Given the description of an element on the screen output the (x, y) to click on. 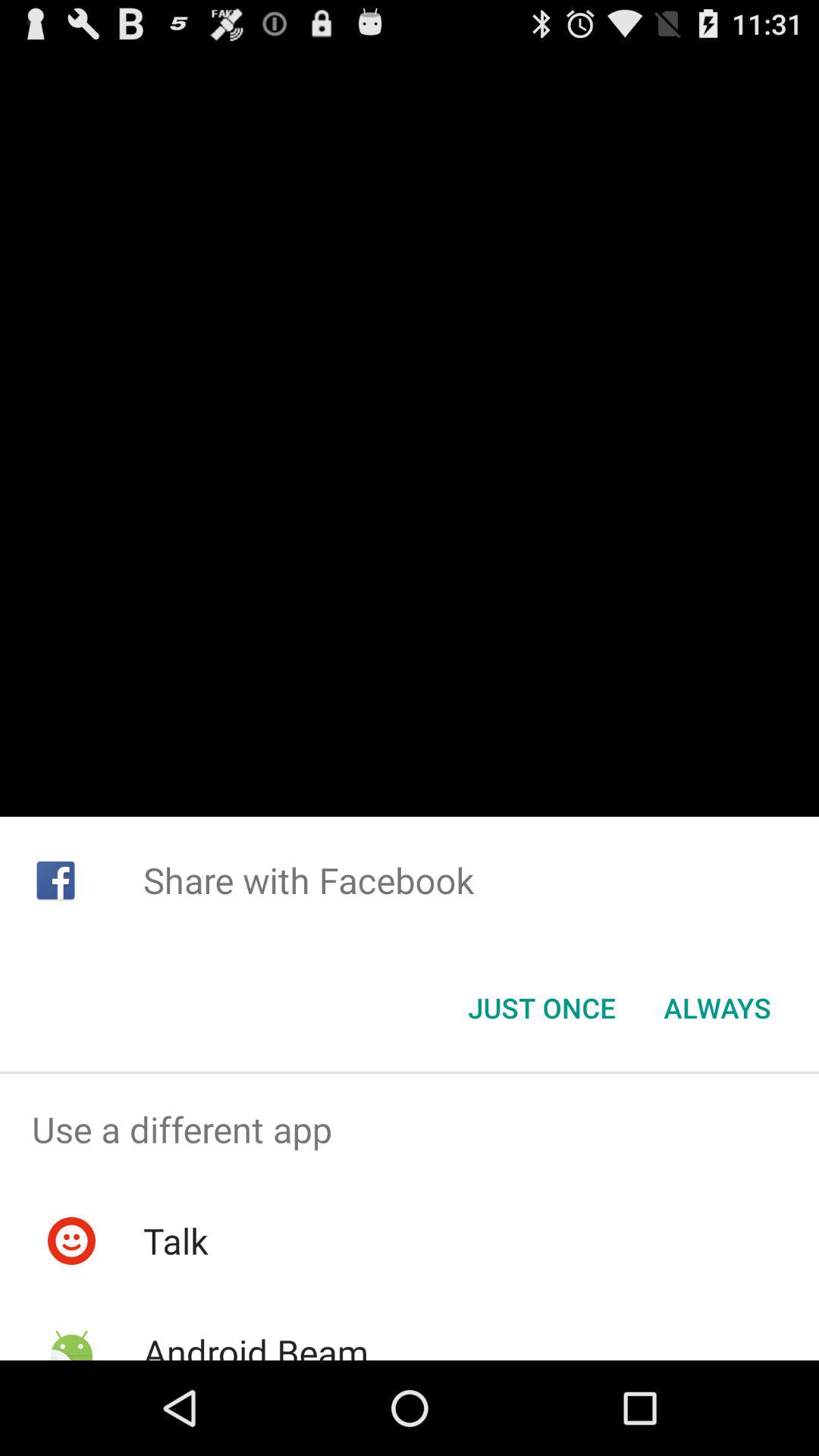
select icon below the share with facebook item (541, 1007)
